Given the description of an element on the screen output the (x, y) to click on. 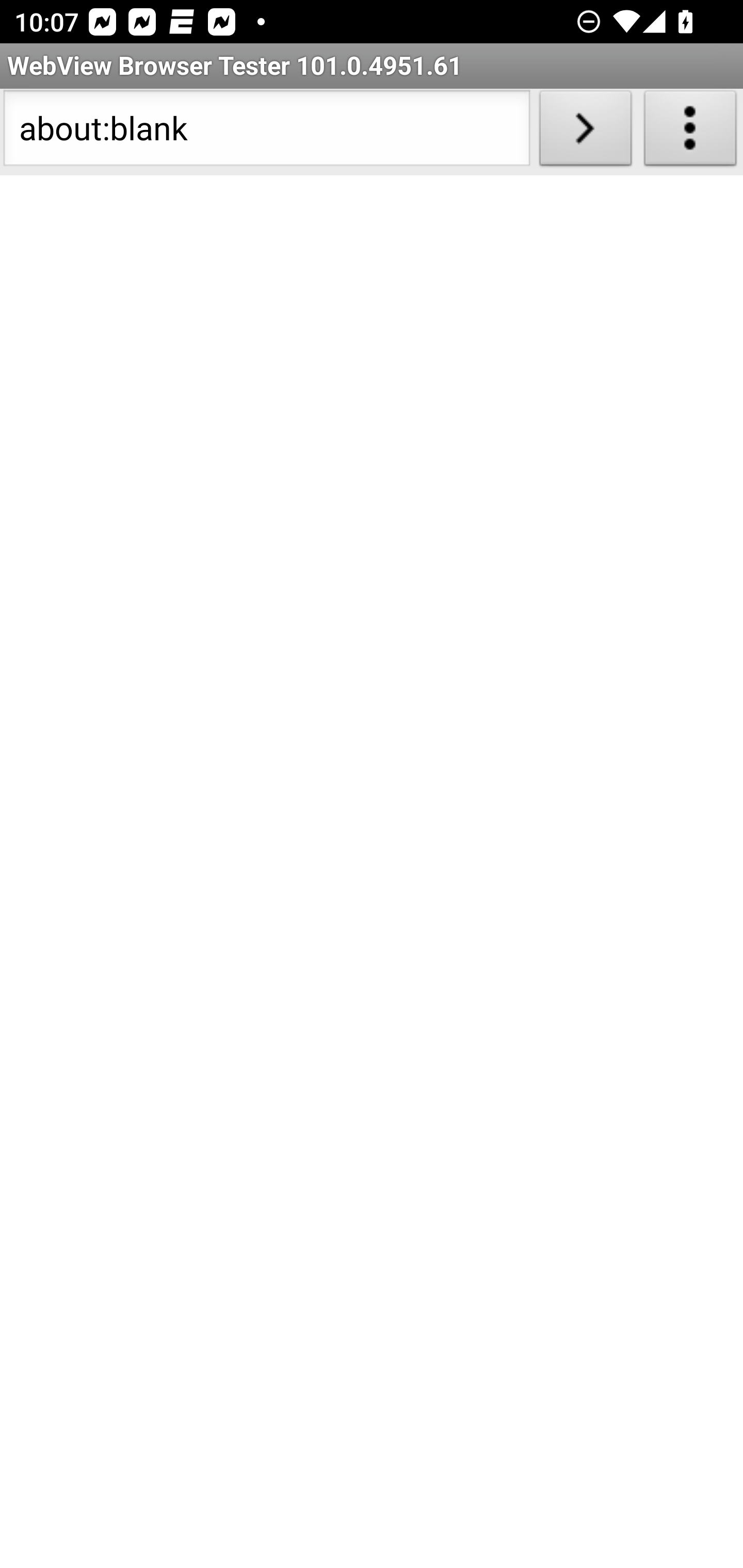
about:blank (266, 132)
Load URL (585, 132)
About WebView (690, 132)
